Given the description of an element on the screen output the (x, y) to click on. 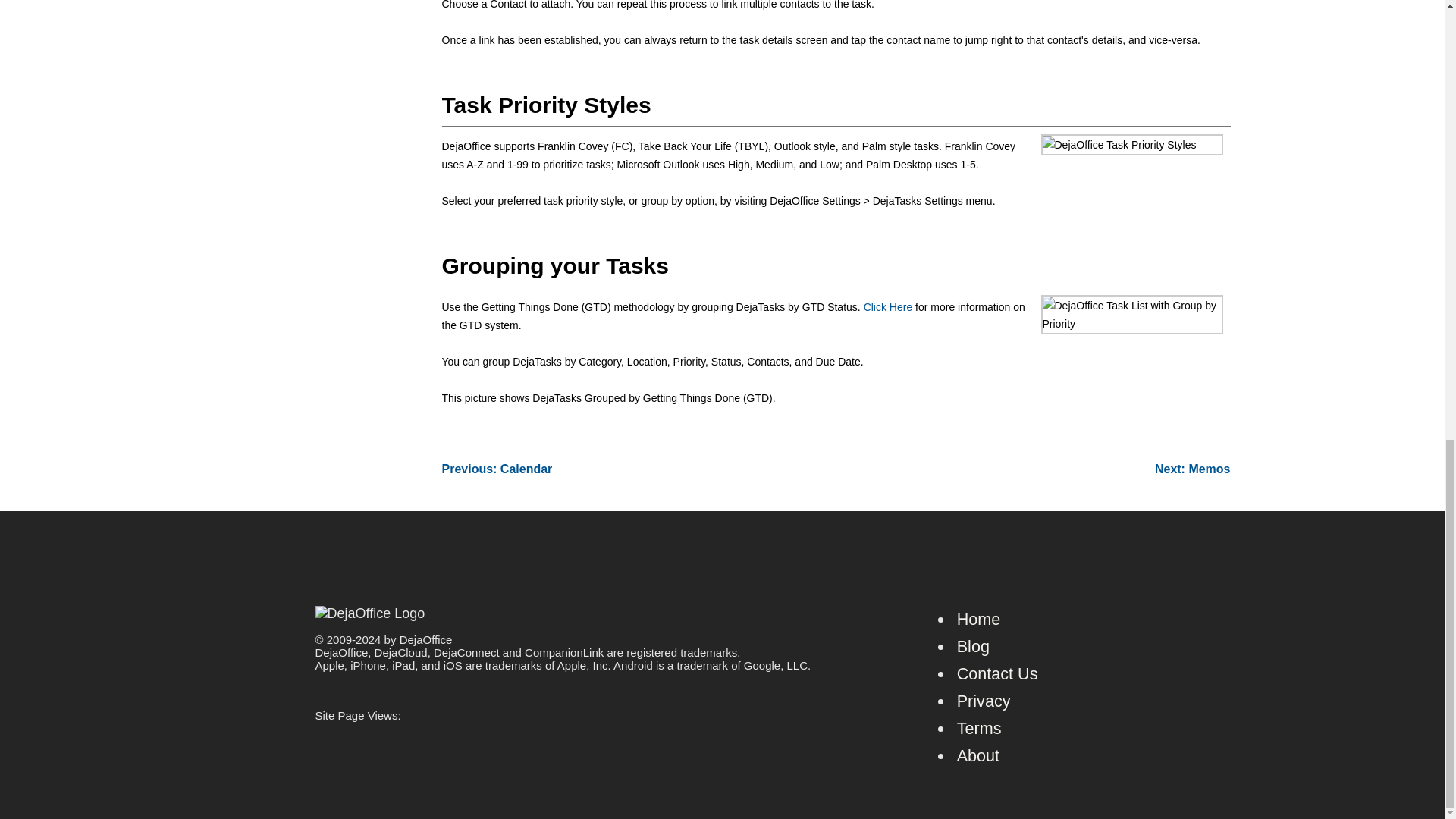
Privacy (983, 700)
Blog (973, 646)
Tech Support (997, 673)
Home Page (978, 618)
Terms (978, 728)
About DejaOffice (977, 755)
